Given the description of an element on the screen output the (x, y) to click on. 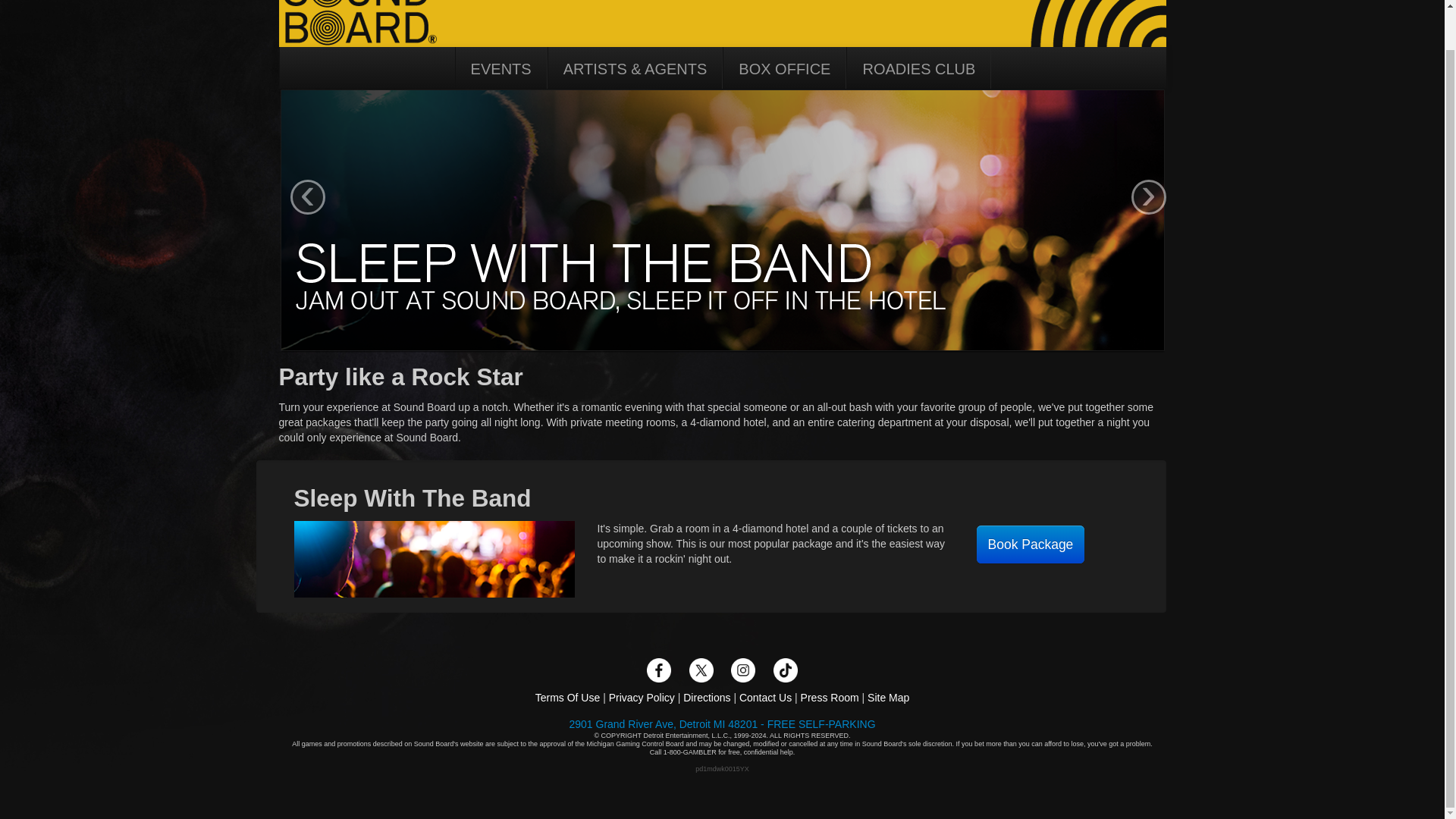
ROADIES CLUB (918, 70)
Privacy Policy (641, 697)
Site Map (887, 697)
2901 Grand River Ave, Detroit MI 48201 - FREE SELF-PARKING (722, 724)
EVENTS (501, 70)
Terms Of Use (567, 697)
Contact Us (765, 697)
Directions (706, 697)
Press Room (829, 697)
BOX OFFICE (784, 70)
Book Package (1030, 544)
